Given the description of an element on the screen output the (x, y) to click on. 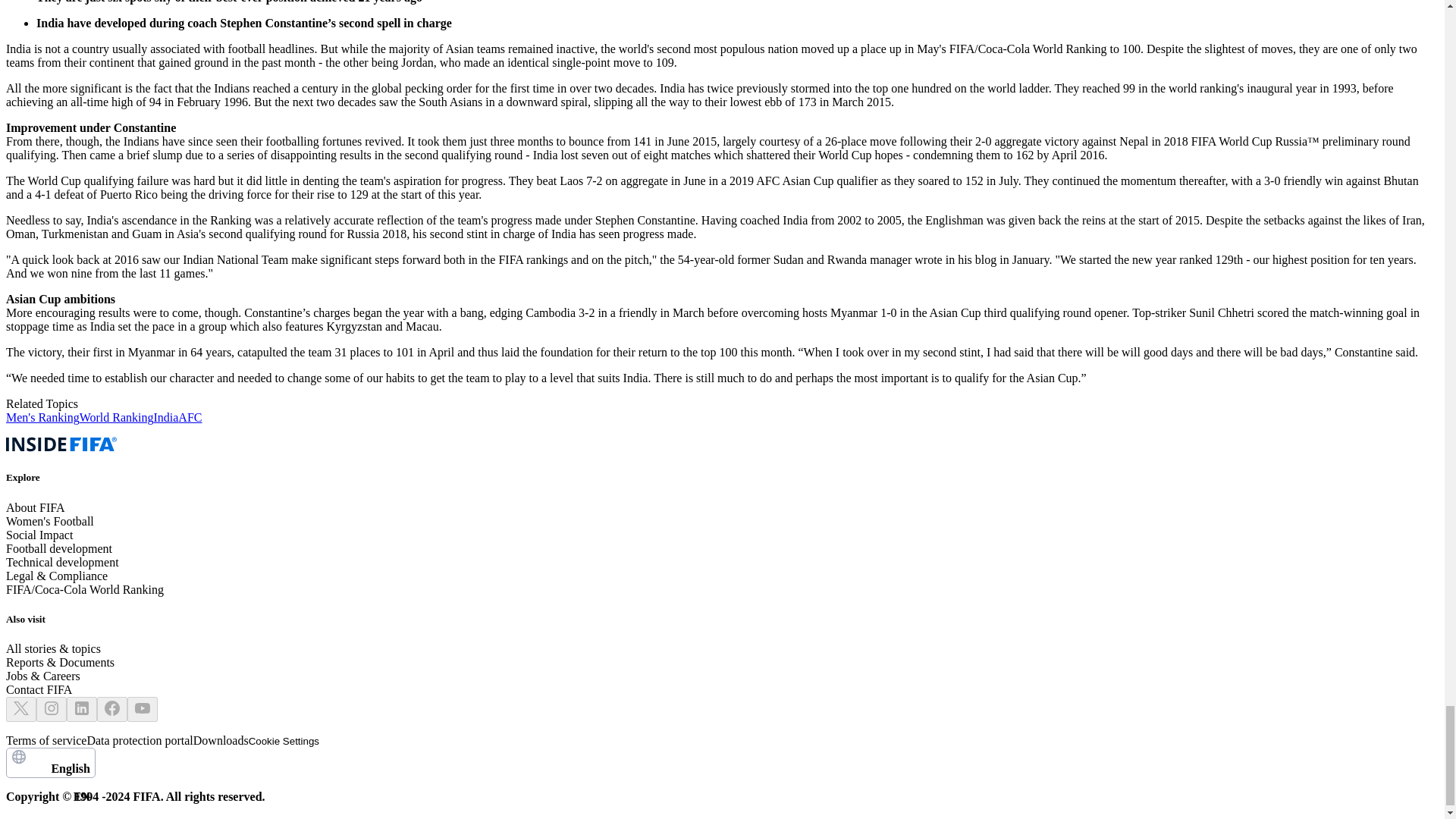
Contact FIFA (38, 689)
Social Impact (38, 534)
Terms of service (45, 739)
Downloads (220, 739)
India (164, 417)
World Ranking (117, 417)
Technical development (62, 562)
Women's Football (49, 521)
Data protection portal (138, 739)
Football development (58, 548)
